Given the description of an element on the screen output the (x, y) to click on. 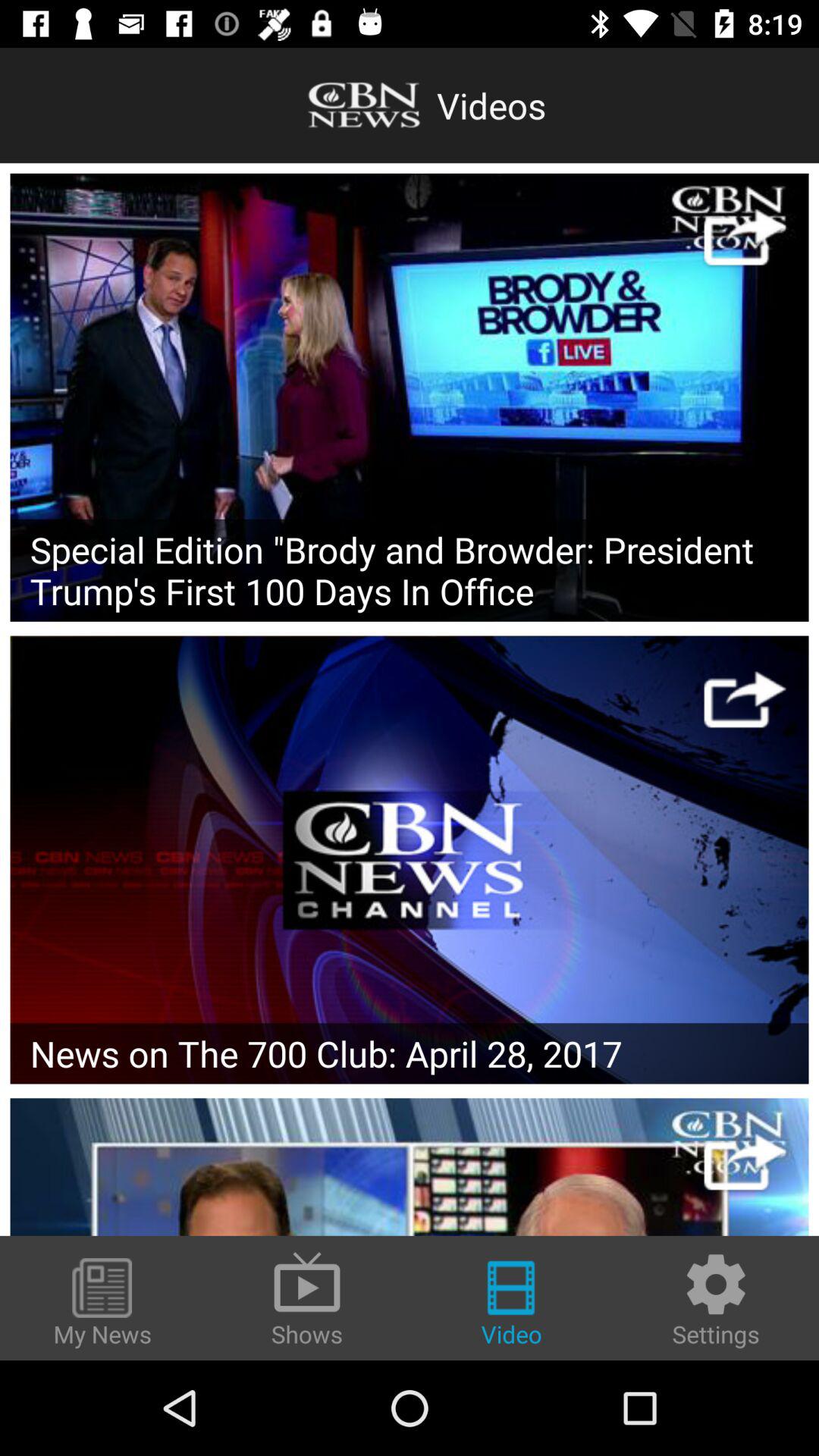
jump until settings (715, 1299)
